Given the description of an element on the screen output the (x, y) to click on. 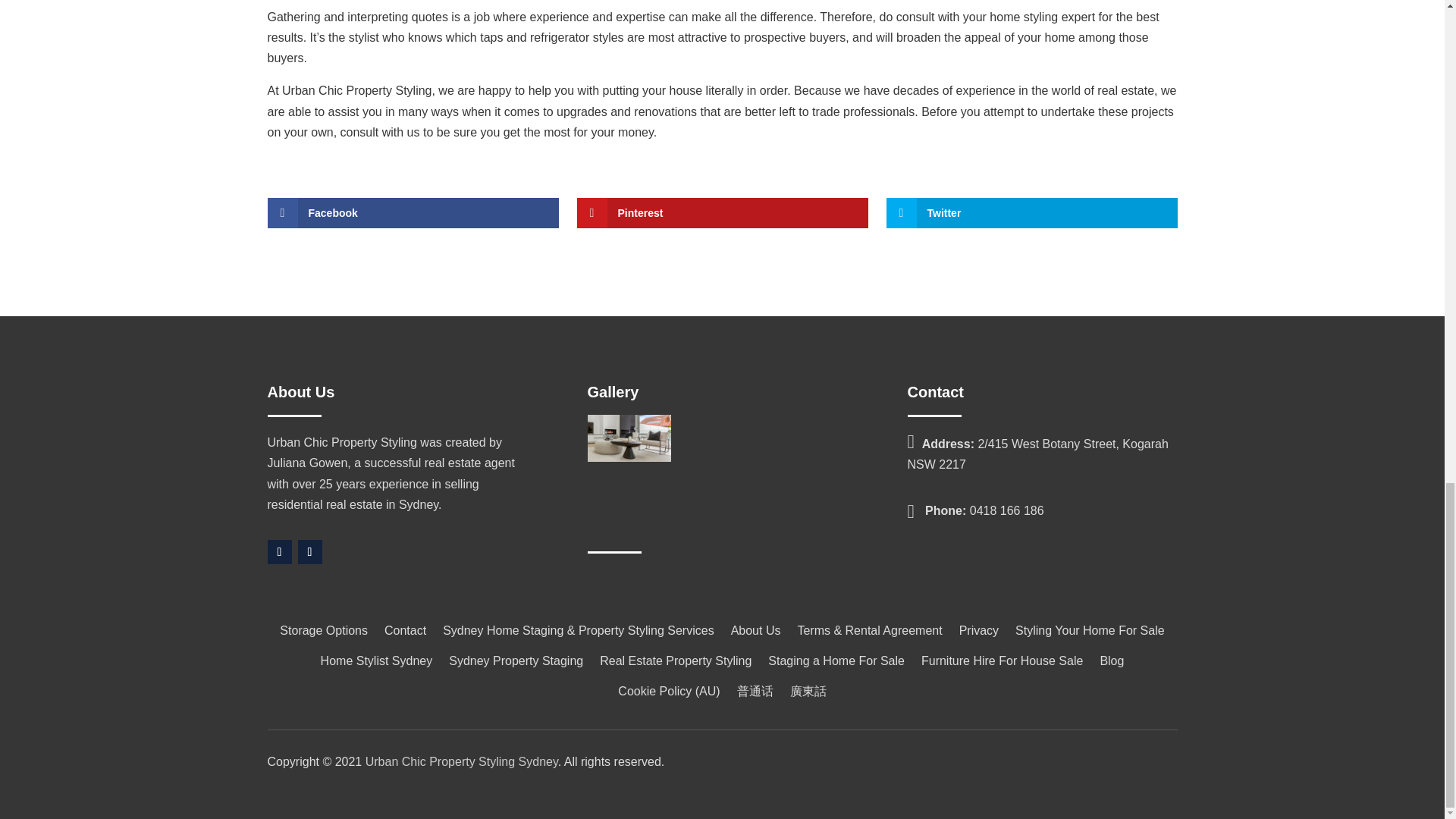
About Us (755, 633)
Privacy (978, 633)
Storage Options (323, 633)
0418 166 186 (1006, 510)
Follow on Facebook (278, 551)
Styling Your Home For Sale (1089, 633)
Pinterest (721, 213)
Follow on Instagram (309, 551)
Twitter (1030, 213)
Facebook (411, 213)
